Given the description of an element on the screen output the (x, y) to click on. 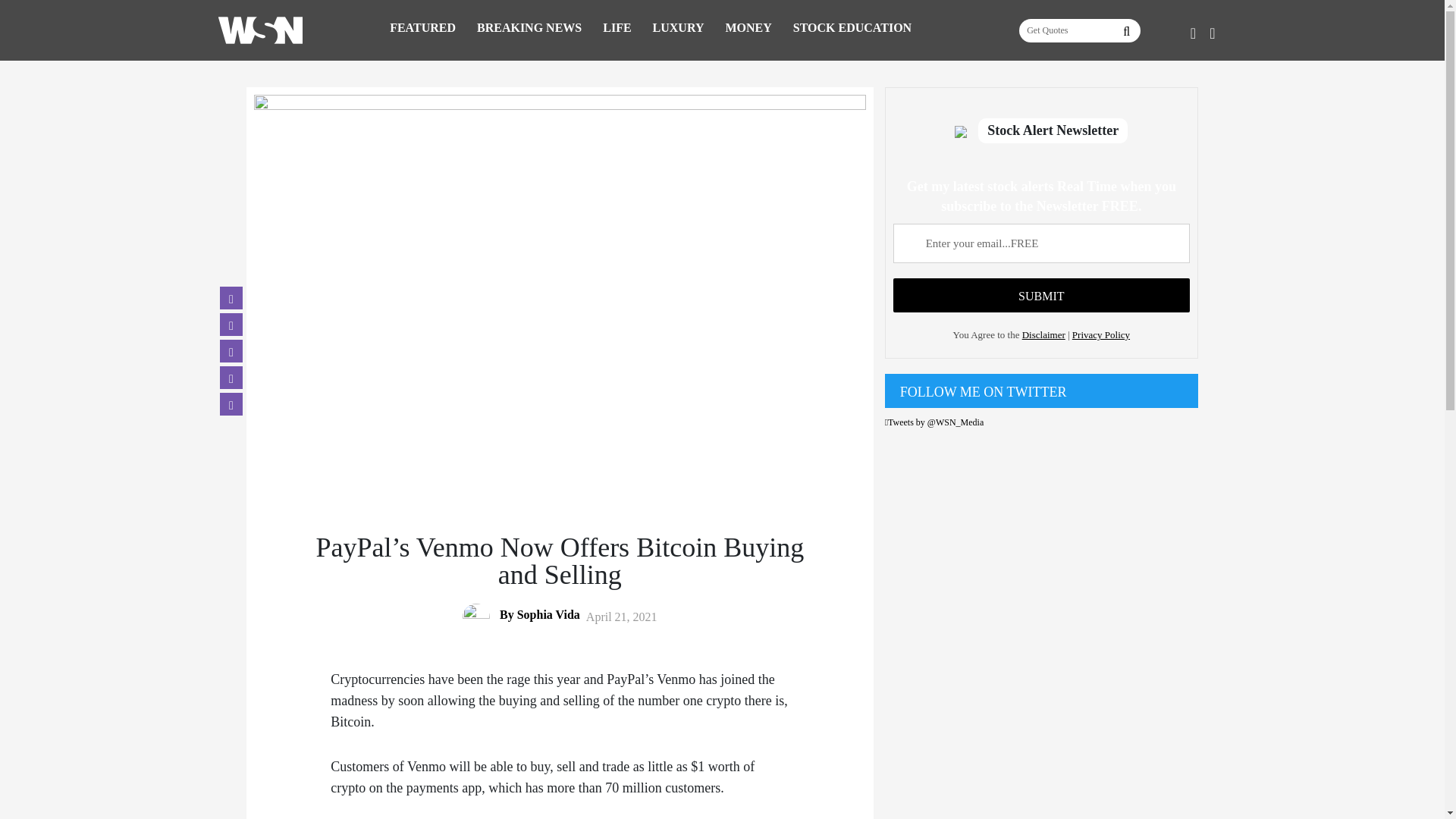
Privacy Policy (1100, 334)
STOCK EDUCATION (852, 27)
SUBMIT (1041, 295)
Share to Facebook (231, 297)
MONEY (748, 27)
SUBMIT (1041, 295)
LIFE (616, 27)
LUXURY (678, 27)
BREAKING NEWS (528, 27)
FEATURED (422, 27)
